Given the description of an element on the screen output the (x, y) to click on. 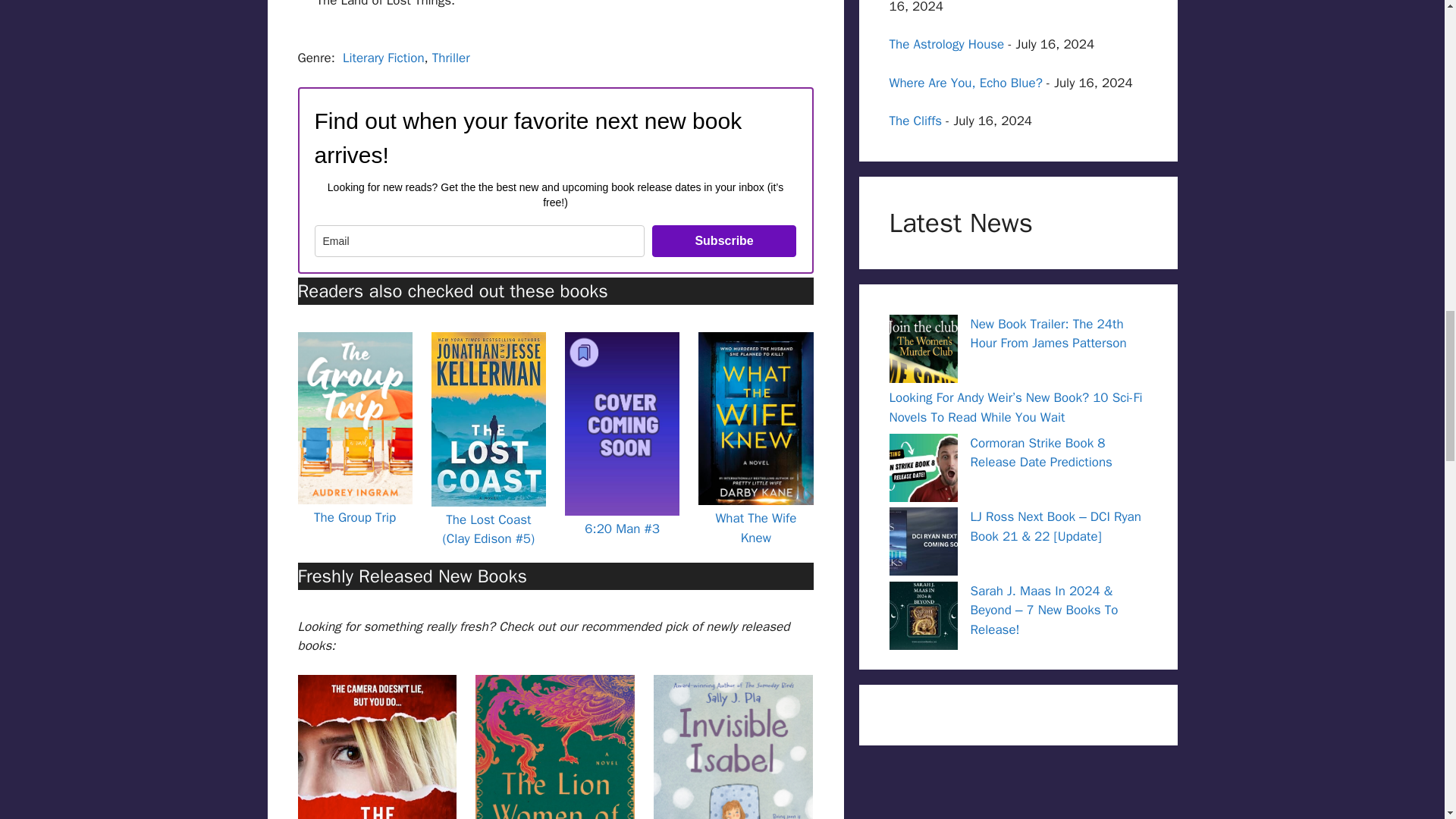
The Group Trip (355, 517)
Subscribe (724, 241)
Thriller (451, 57)
Literary Fiction (383, 57)
What The Wife Knew (755, 528)
